Given the description of an element on the screen output the (x, y) to click on. 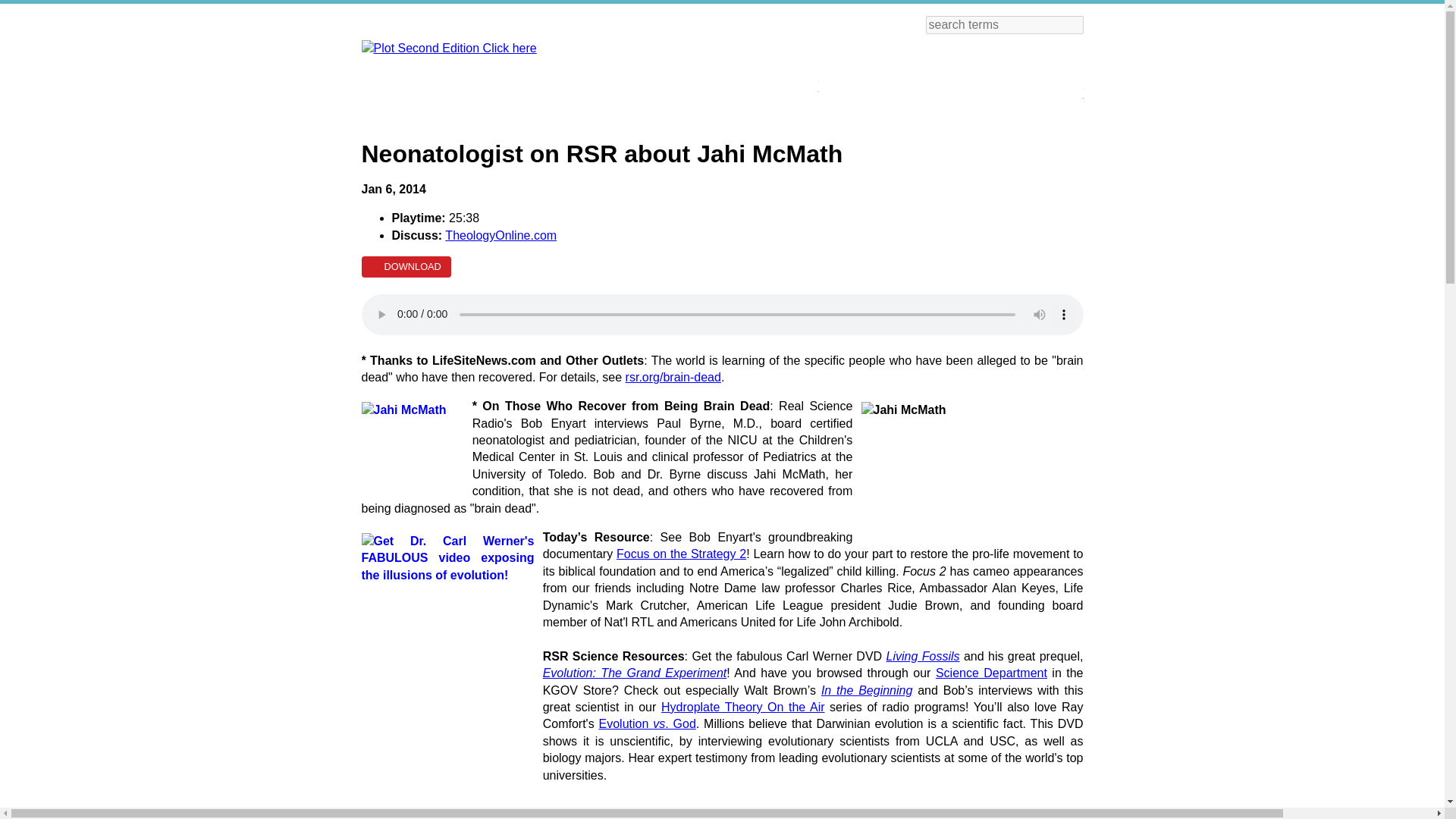
DOWNLOAD (405, 266)
Focus on the Strategy 2 (680, 553)
Evolution: The Grand Experiment (634, 672)
TheologyOnline.com (500, 235)
The Dominic Enyart Show (1020, 80)
Evolution vs. God (646, 723)
Neonatologist on RSR about Jahi McMath (722, 314)
Science Department (991, 672)
Living Fossils (922, 656)
Jahi McMath (412, 440)
